Given the description of an element on the screen output the (x, y) to click on. 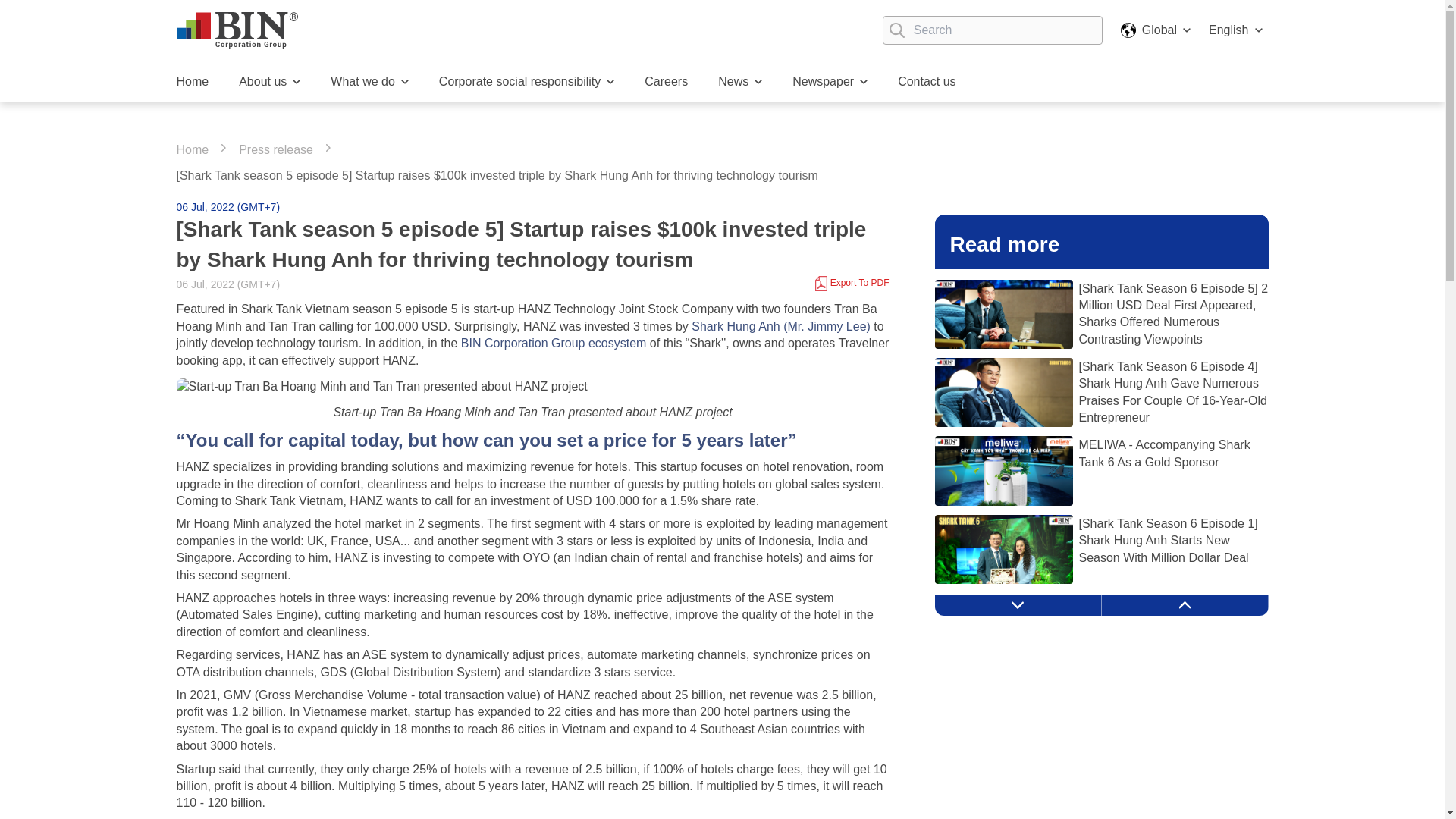
Home (192, 81)
Global (1155, 30)
Careers (666, 81)
English (1235, 30)
Global (1128, 29)
Home (192, 81)
Contact us (926, 81)
BIN Corporation Group (236, 30)
